Given the description of an element on the screen output the (x, y) to click on. 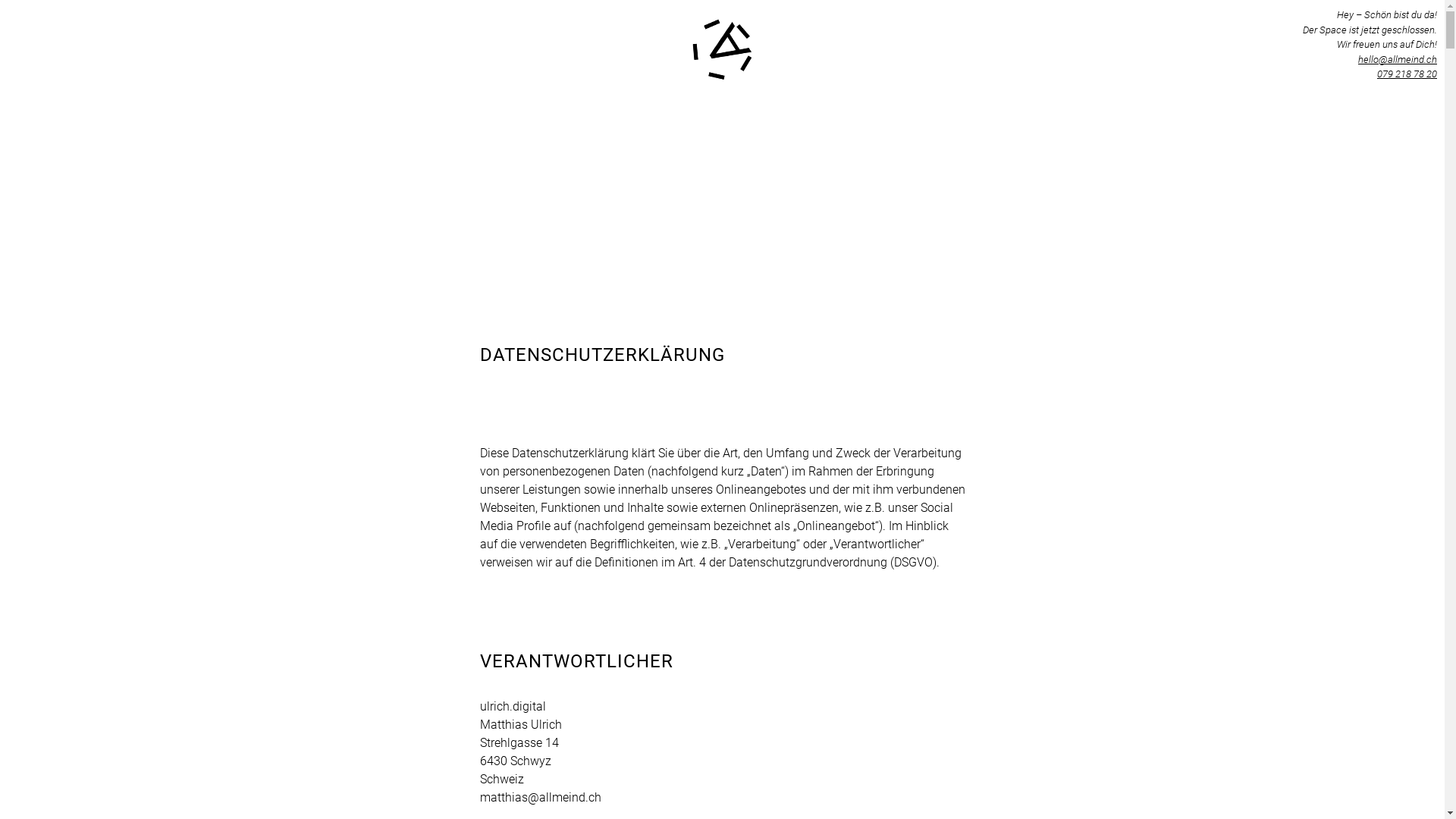
079 218 78 20 Element type: text (1407, 73)
hello@allmeind.ch Element type: text (1397, 58)
